Given the description of an element on the screen output the (x, y) to click on. 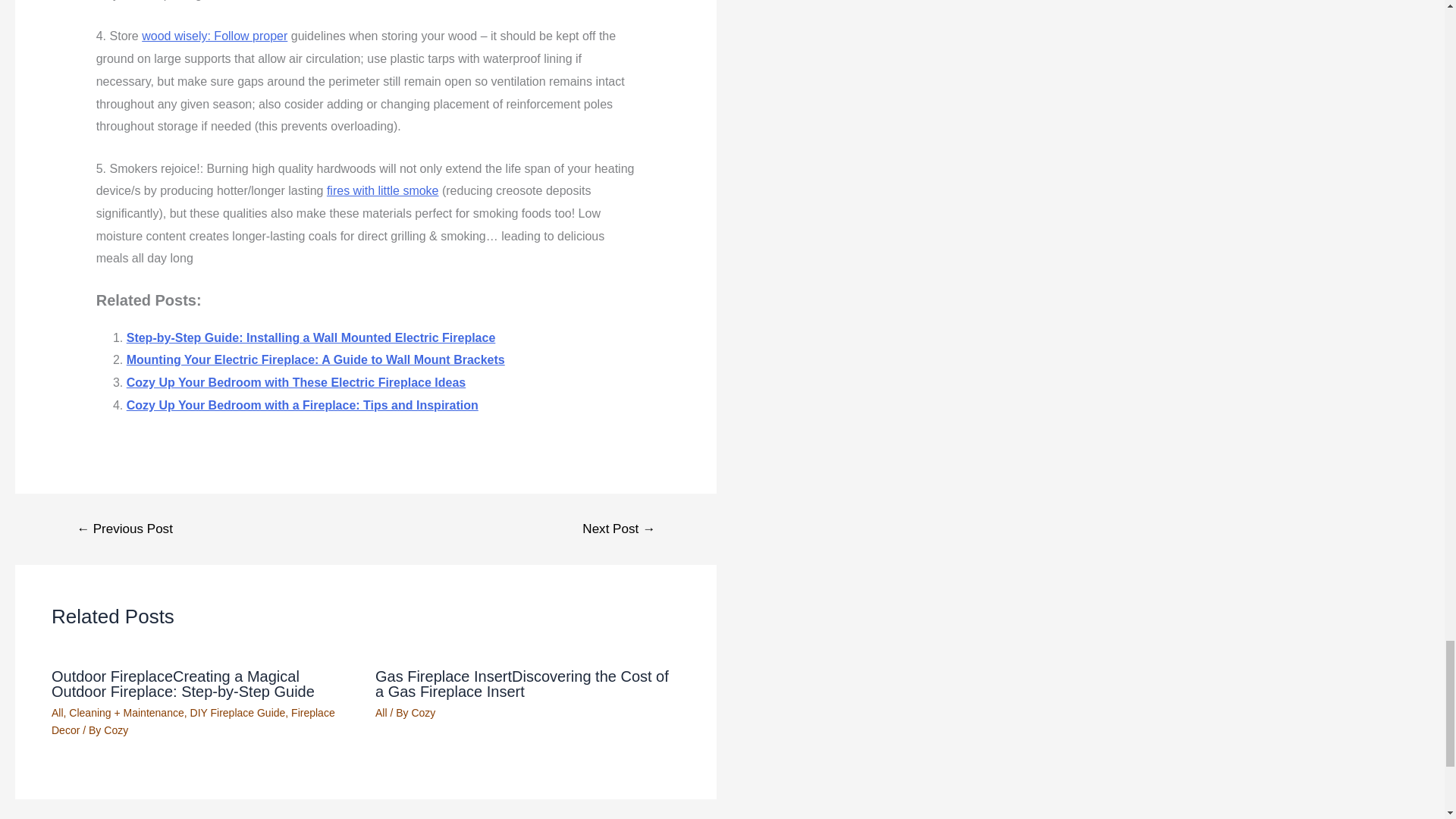
Cozy Up Your Bedroom with a Fireplace: Tips and Inspiration (302, 404)
fires with little smoke (382, 190)
Cozy Up Your Bedroom with These Electric Fireplace Ideas (295, 382)
wood wisely: Follow proper (213, 35)
Cozy Up Your Bedroom with a Fireplace: Tips and Inspiration (302, 404)
View all posts by Cozy (422, 712)
View all posts by Cozy (115, 729)
Cozy Up Your Bedroom with These Electric Fireplace Ideas (295, 382)
